Given the description of an element on the screen output the (x, y) to click on. 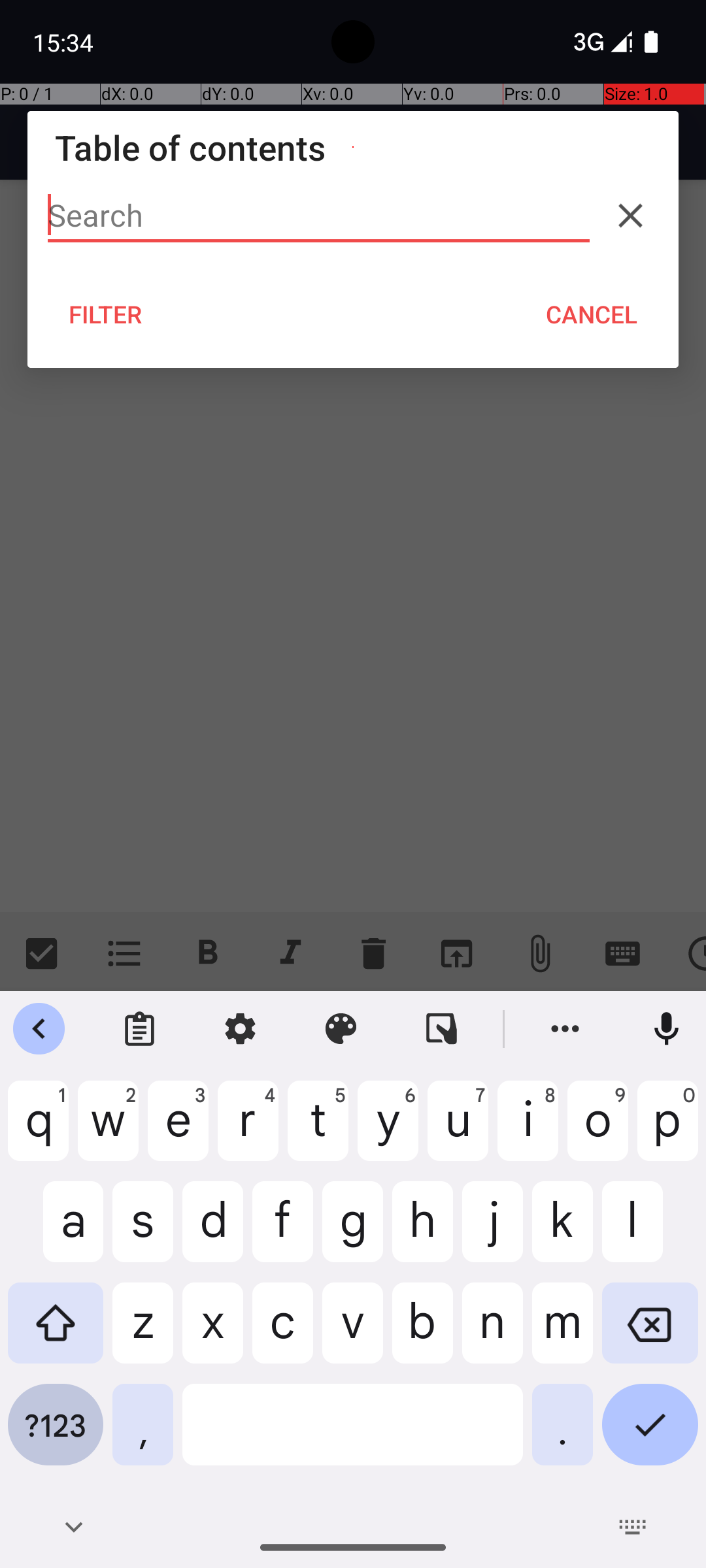
FILTER Element type: android.widget.Button (105, 313)
